Given the description of an element on the screen output the (x, y) to click on. 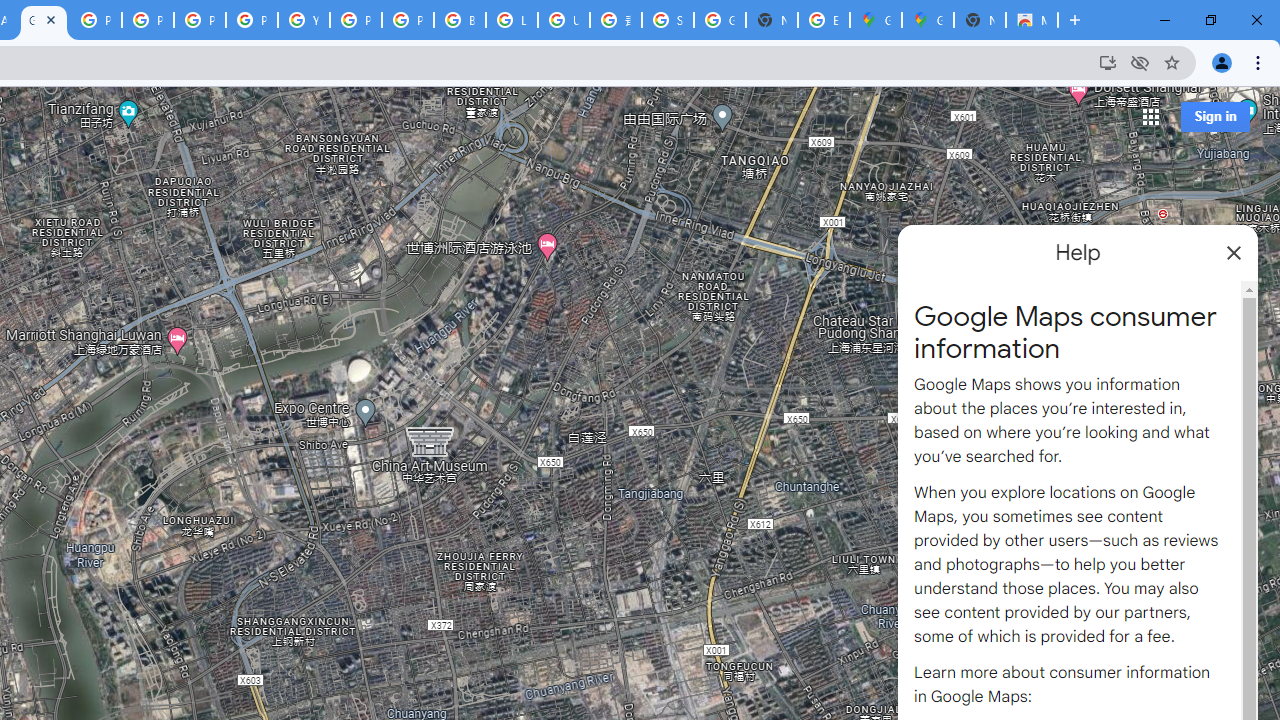
New Tab (979, 20)
Google Maps (875, 20)
Google Maps (43, 20)
Sign in - Google Accounts (667, 20)
Google Maps (927, 20)
Explore new street-level details - Google Maps Help (823, 20)
